Given the description of an element on the screen output the (x, y) to click on. 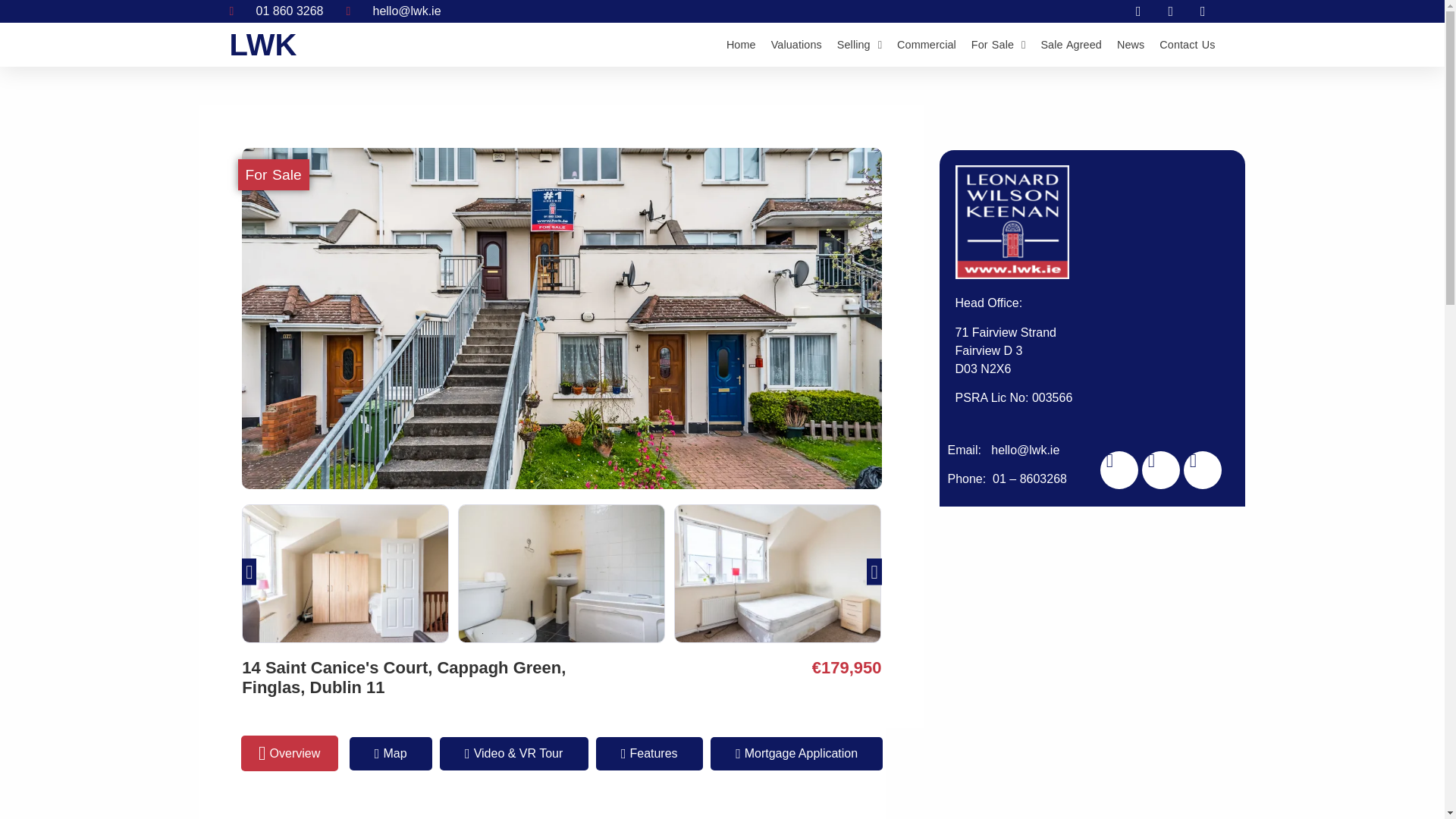
Home (740, 44)
LWK (262, 44)
Commercial (926, 44)
01 860 3268 (275, 11)
For Sale (998, 44)
Valuations (796, 44)
Selling (859, 44)
Sale Agreed (1071, 44)
Contact Us (1186, 44)
News (1130, 44)
